Given the description of an element on the screen output the (x, y) to click on. 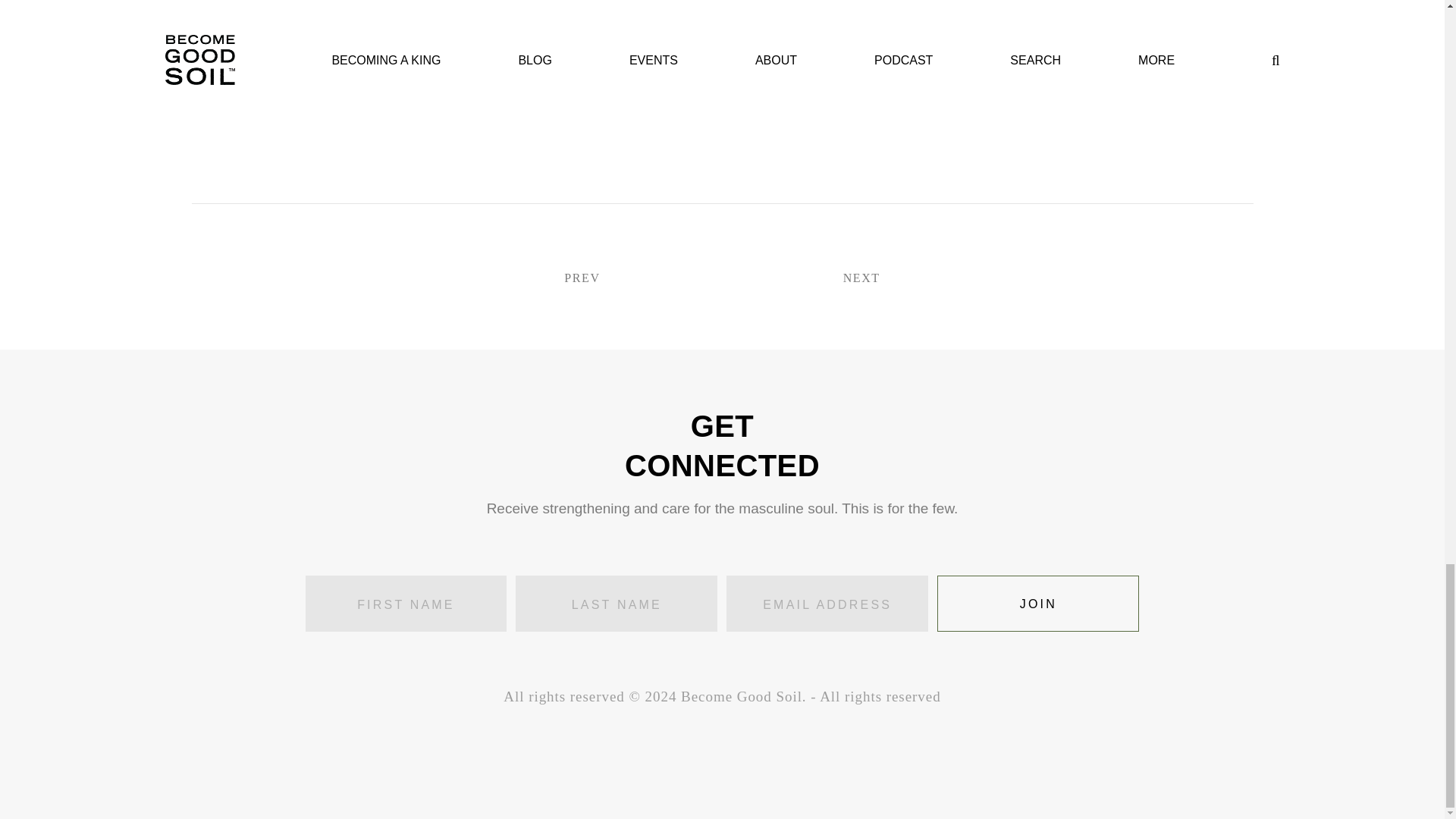
NEXT (818, 278)
Join (1037, 603)
Buy On Amazon (531, 80)
PREV (624, 278)
Join (1037, 603)
